Given the description of an element on the screen output the (x, y) to click on. 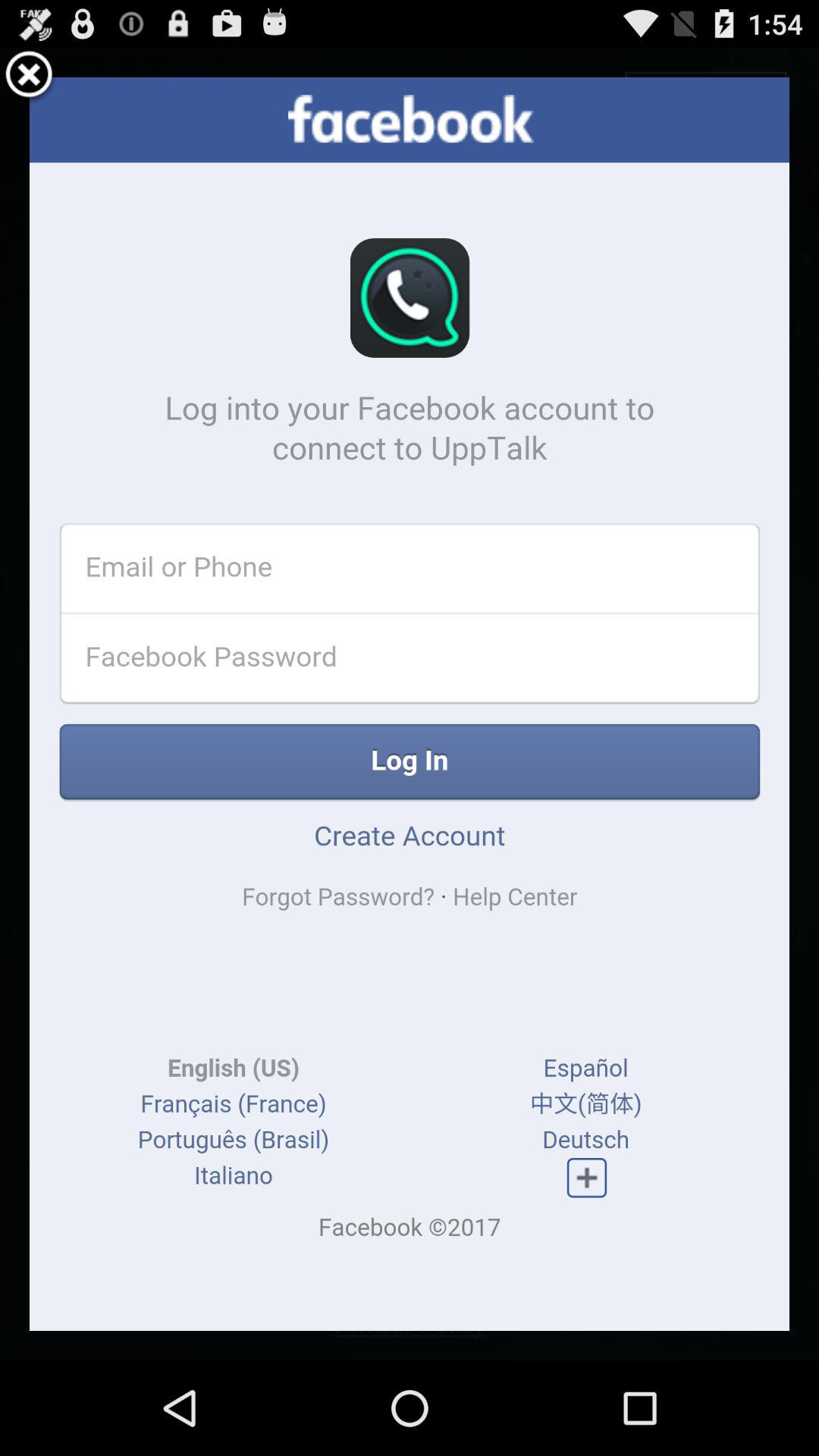
click close option (29, 76)
